Given the description of an element on the screen output the (x, y) to click on. 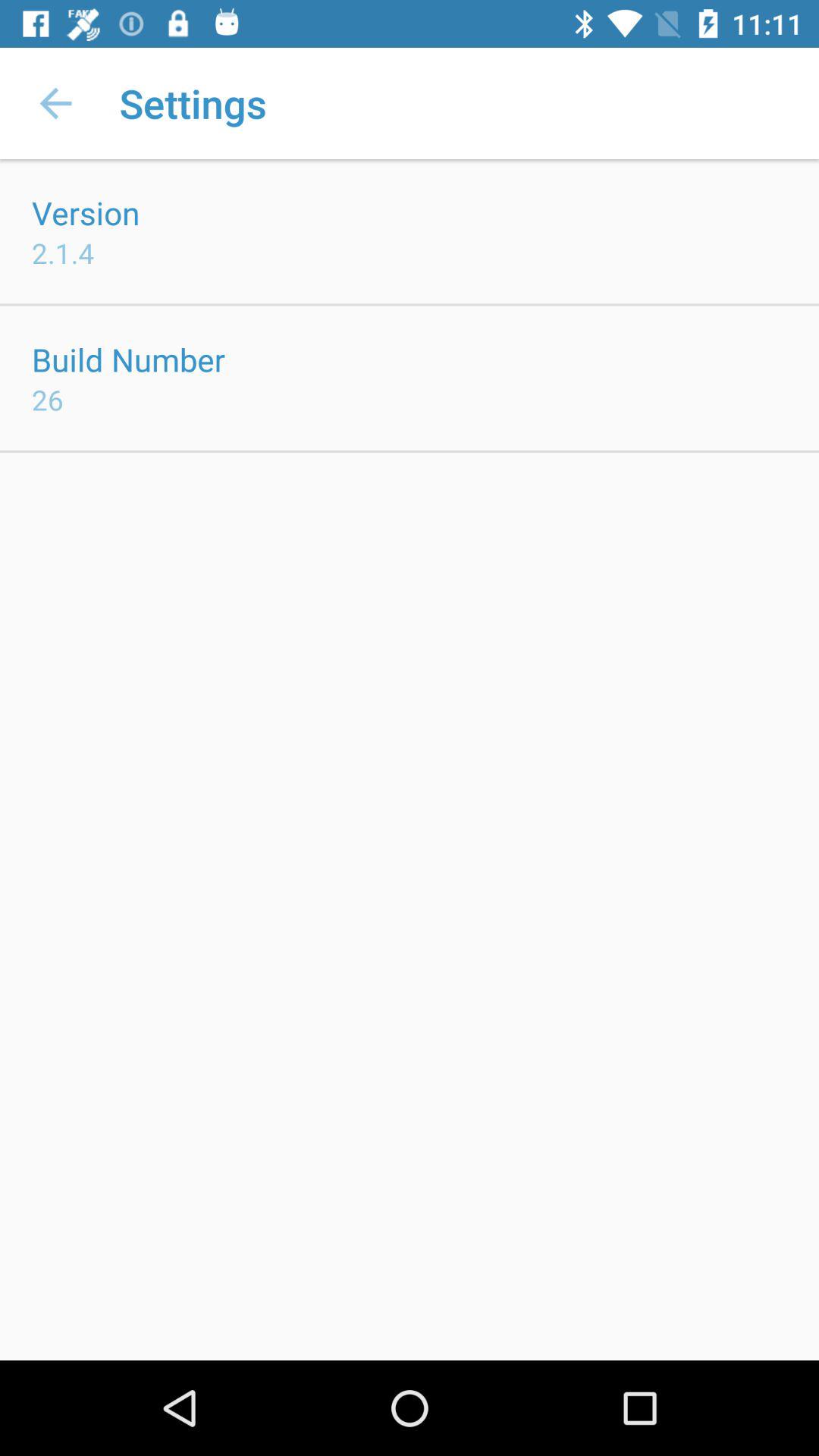
open icon above the 26 icon (128, 359)
